Given the description of an element on the screen output the (x, y) to click on. 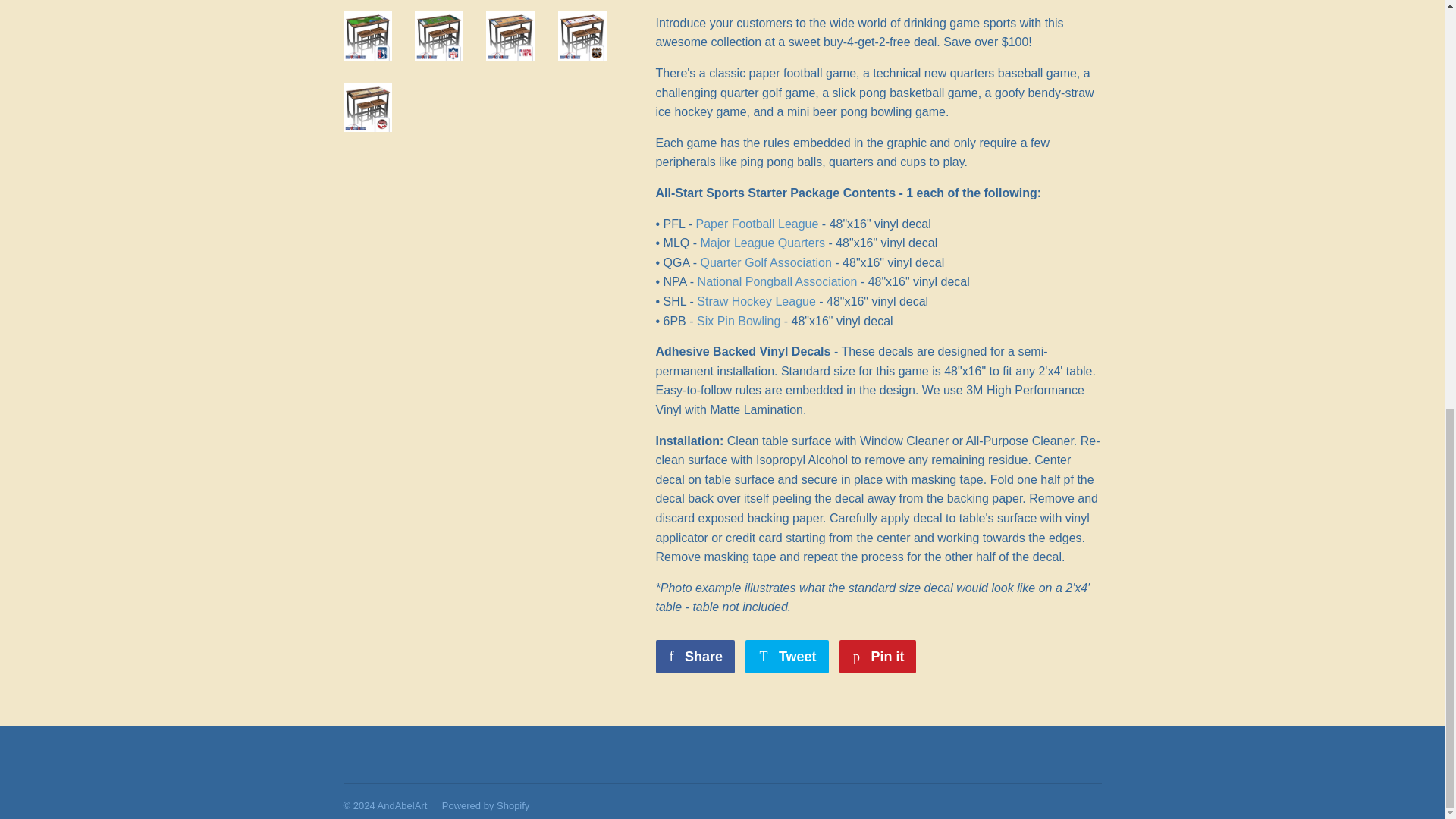
Straw Hockey League (756, 300)
Six Pin Bowling (738, 320)
Quarter Golf Association (765, 262)
Straw Hockey League (756, 300)
Share on Facebook (694, 656)
Major League Quarters (762, 242)
Major League Quarters (762, 242)
Tweet on Twitter (786, 656)
